Given the description of an element on the screen output the (x, y) to click on. 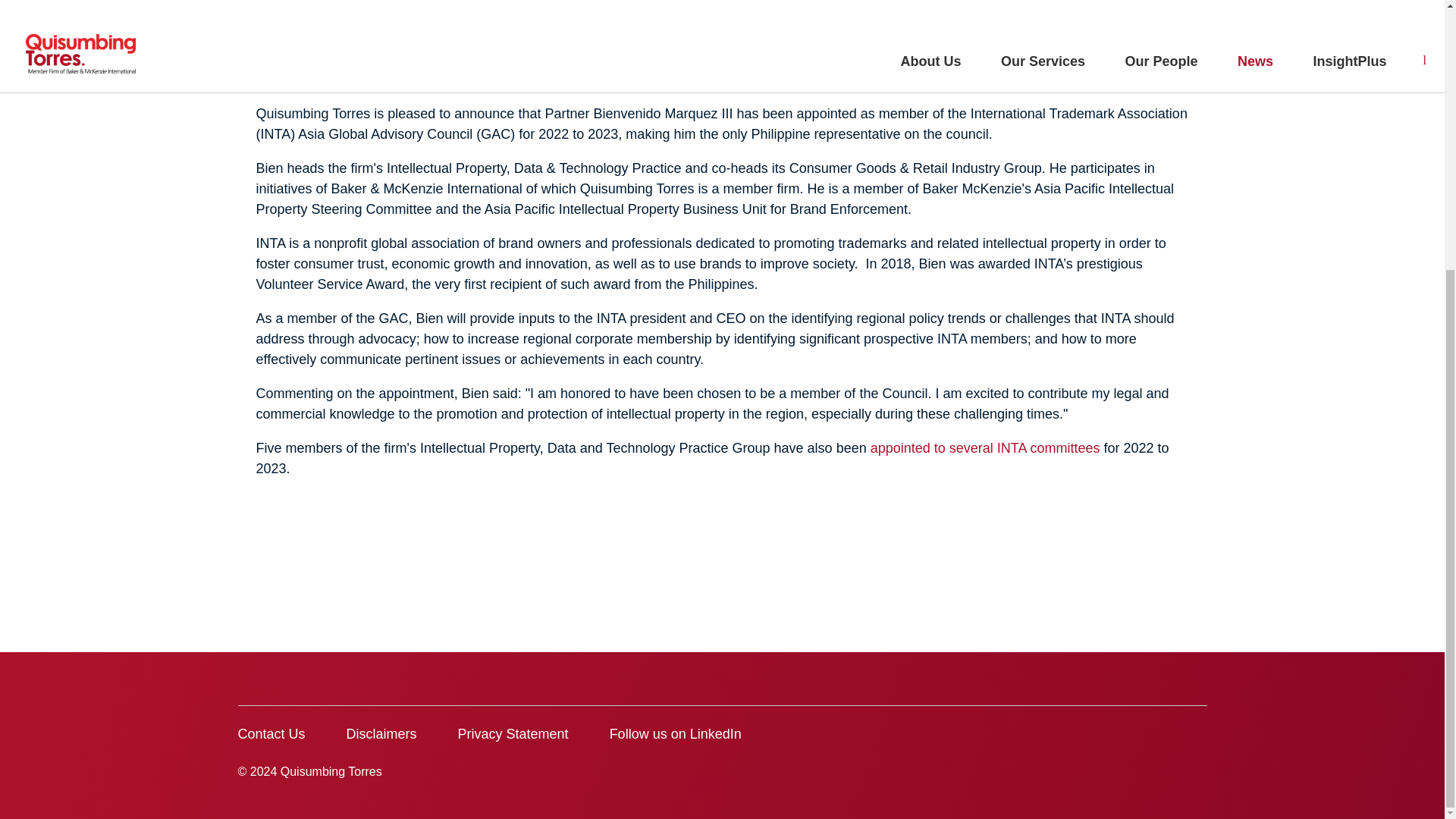
Privacy Statement (513, 734)
Disclaimers (381, 734)
appointed to several INTA committees (985, 447)
Contact Us (271, 734)
Follow us on LinkedIn (675, 734)
